Given the description of an element on the screen output the (x, y) to click on. 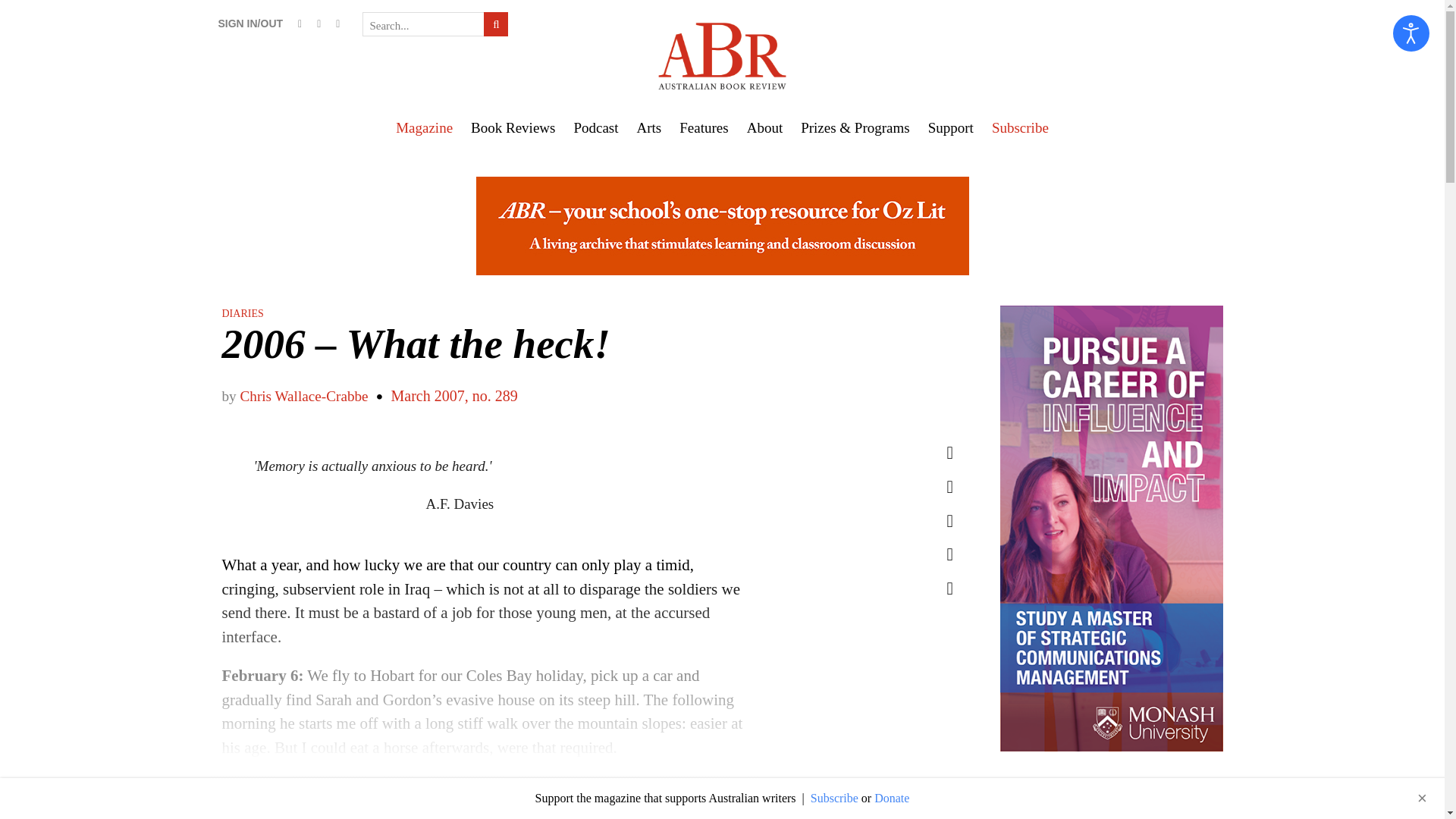
Open accessibility tools (1411, 33)
Book Reviews (512, 127)
Magazine (424, 127)
